Given the description of an element on the screen output the (x, y) to click on. 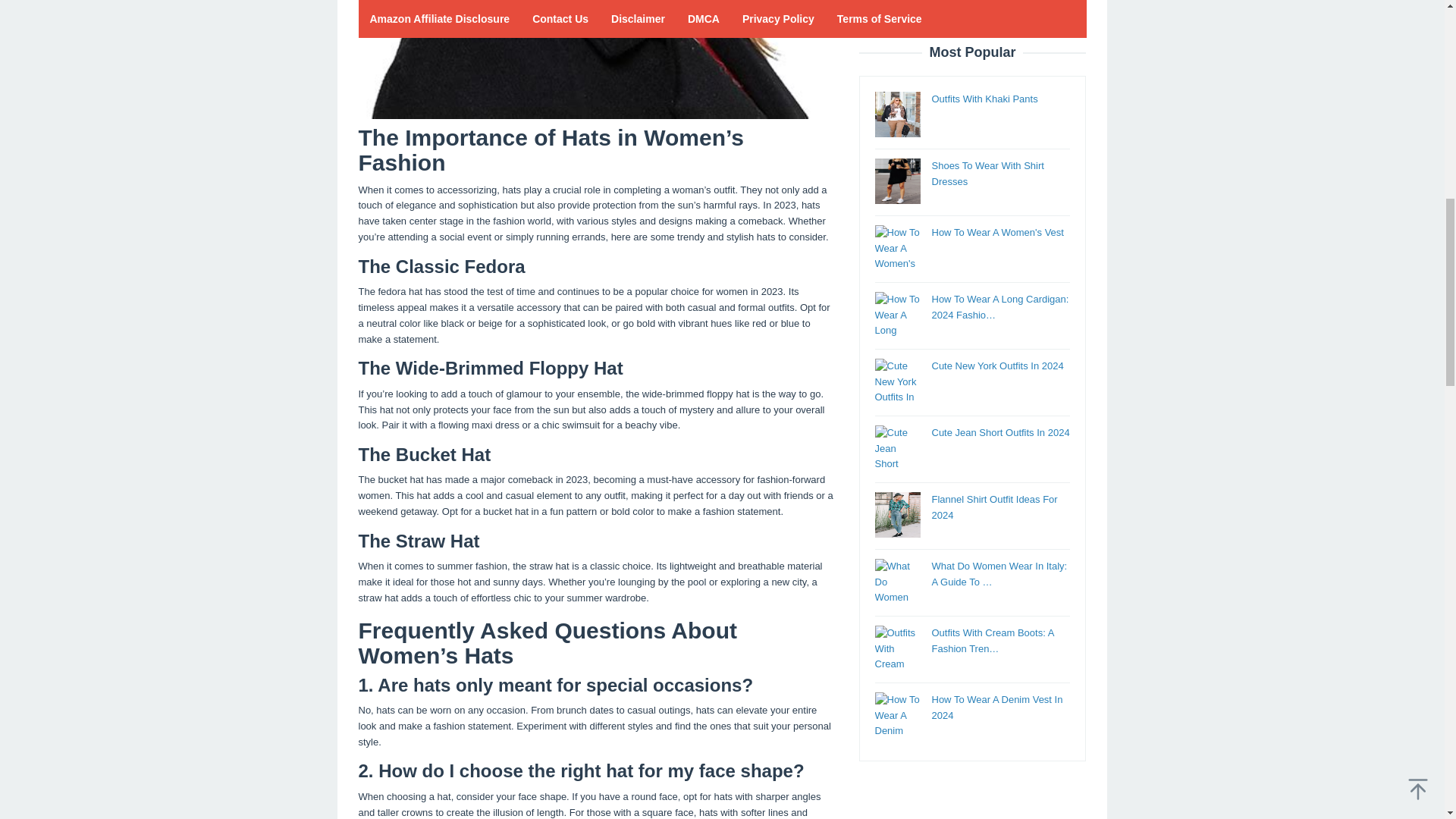
How To Wear A Denim Vest In 2024 (996, 20)
